Given the description of an element on the screen output the (x, y) to click on. 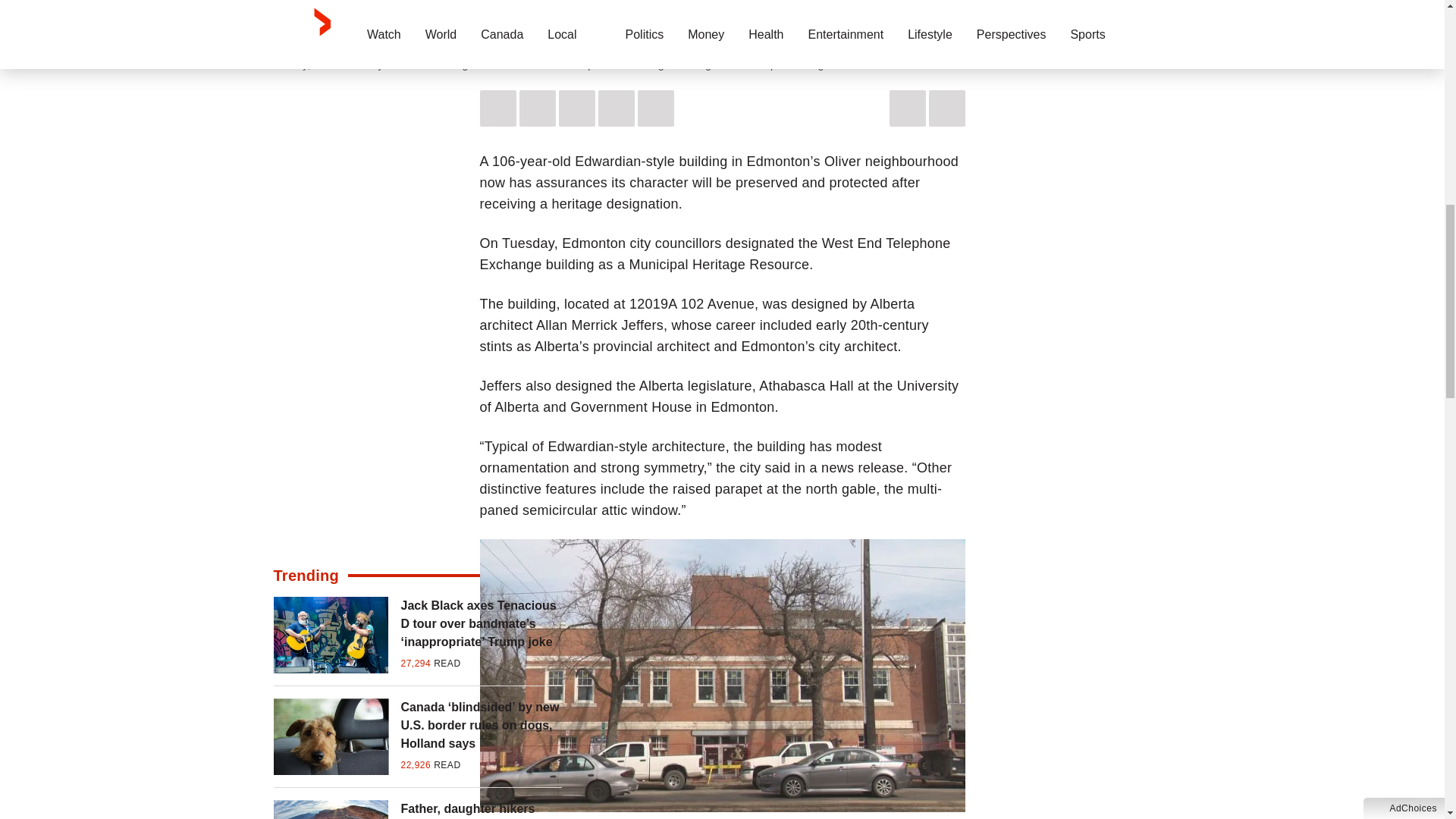
View image in full screen (721, 22)
View image in full screen (721, 675)
